Given the description of an element on the screen output the (x, y) to click on. 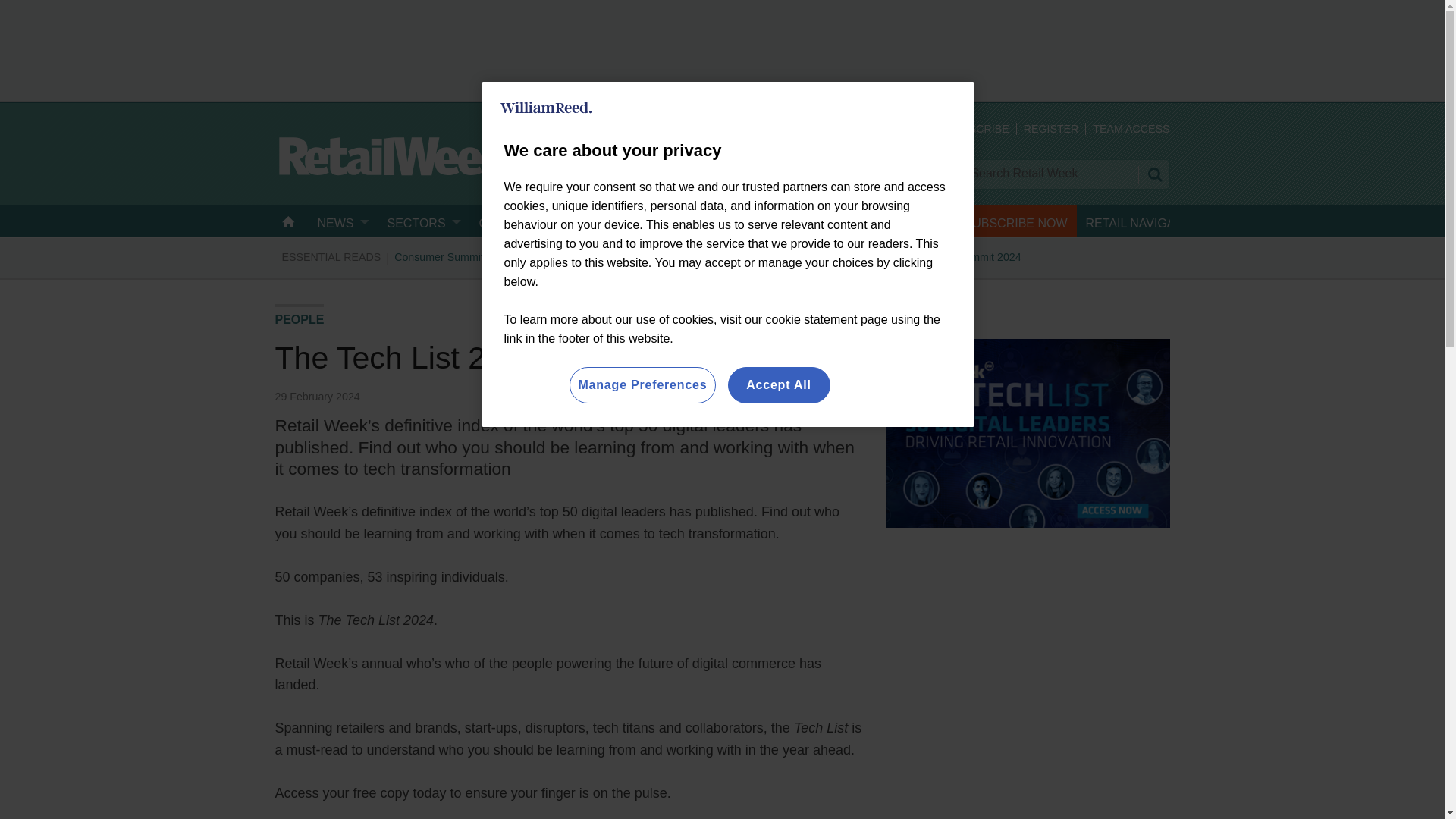
REGISTER (1050, 128)
SEARCH (1153, 174)
Innovation of the Week (578, 256)
Innovation Summit 2024 (962, 256)
3rd party ad content (722, 48)
TEAM ACCESS (1131, 128)
SUBSCRIBE (977, 128)
Christmas ads preview (836, 256)
SIGN IN (901, 128)
Christmas Forecast 2024 (709, 256)
